Given the description of an element on the screen output the (x, y) to click on. 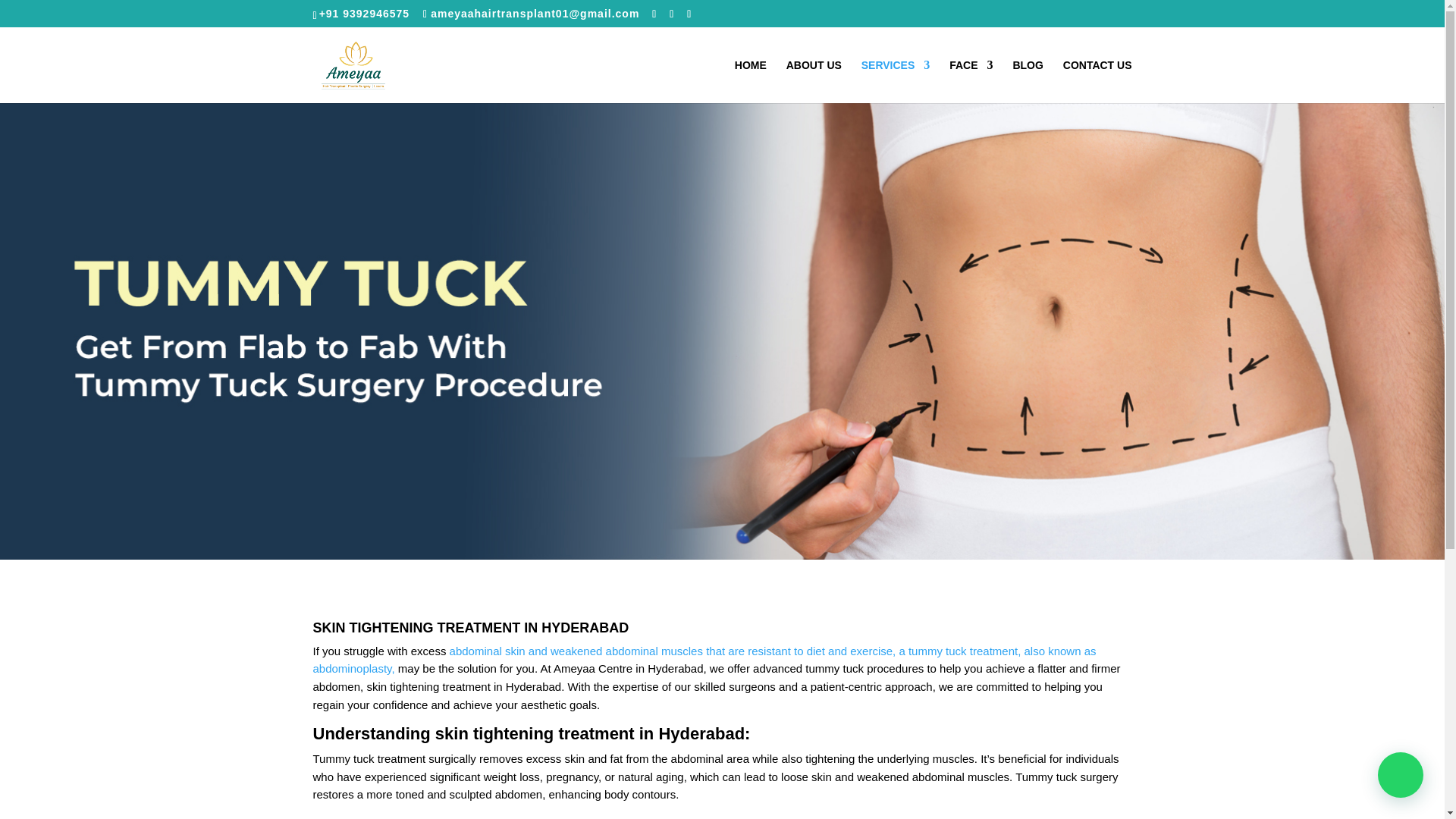
CONTACT US (1097, 81)
ABOUT US (813, 81)
SERVICES (895, 81)
FACE (970, 81)
